Given the description of an element on the screen output the (x, y) to click on. 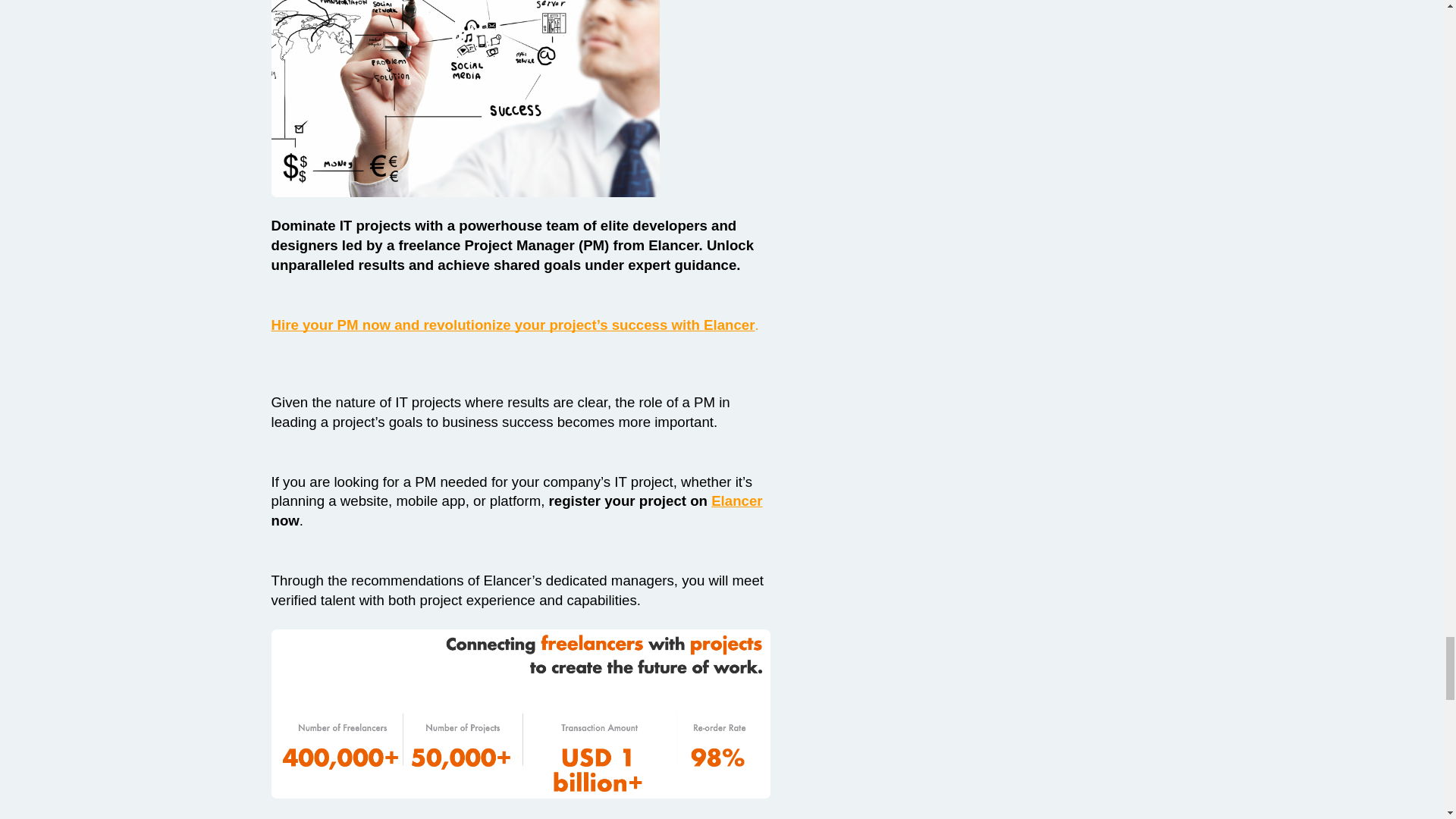
Elancer (736, 501)
